Given the description of an element on the screen output the (x, y) to click on. 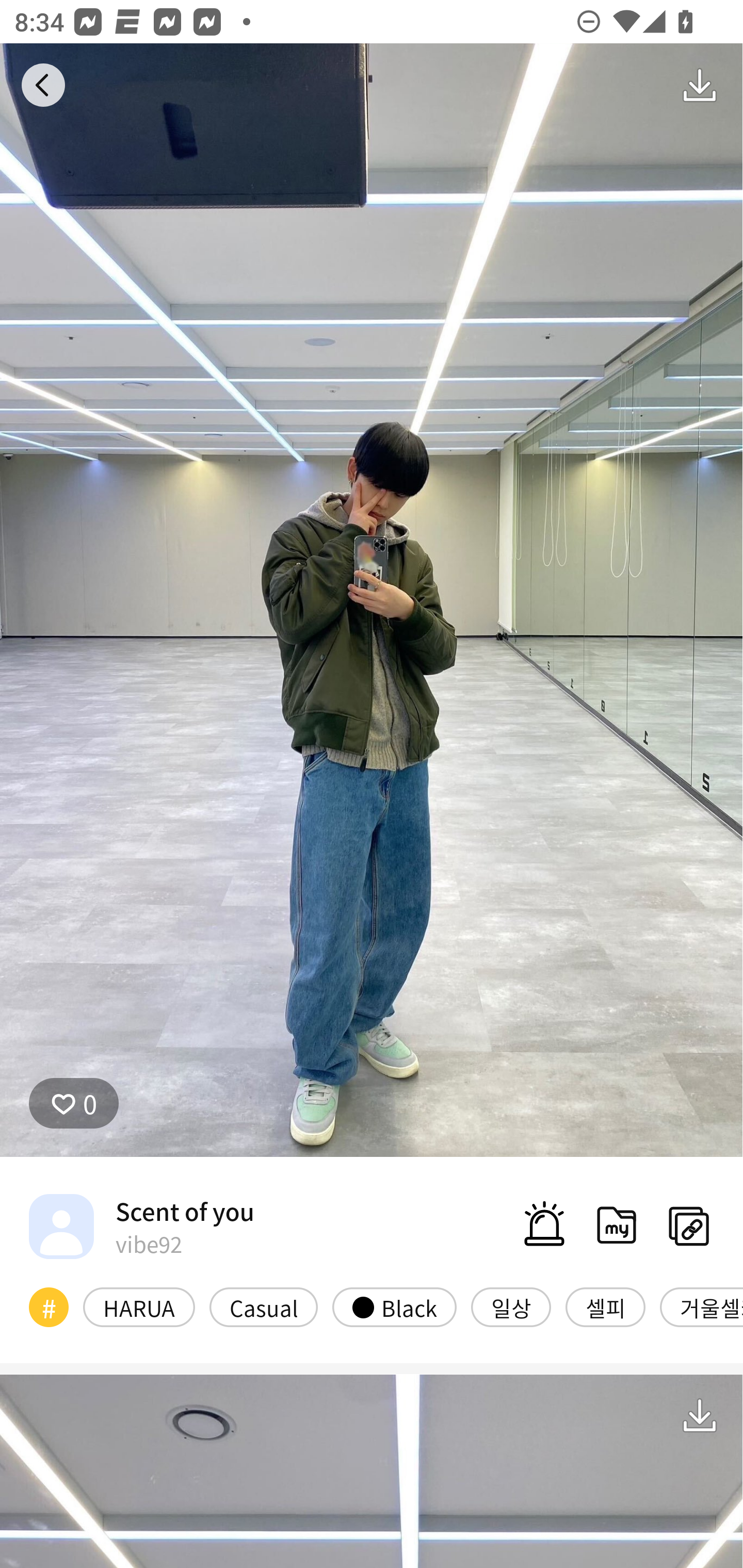
0 (73, 1102)
Scent of you vibe92 (141, 1226)
HARUA (138, 1306)
Casual (263, 1306)
Black (394, 1306)
일상 (511, 1306)
셀피 (605, 1306)
거울셀카 (701, 1306)
